Given the description of an element on the screen output the (x, y) to click on. 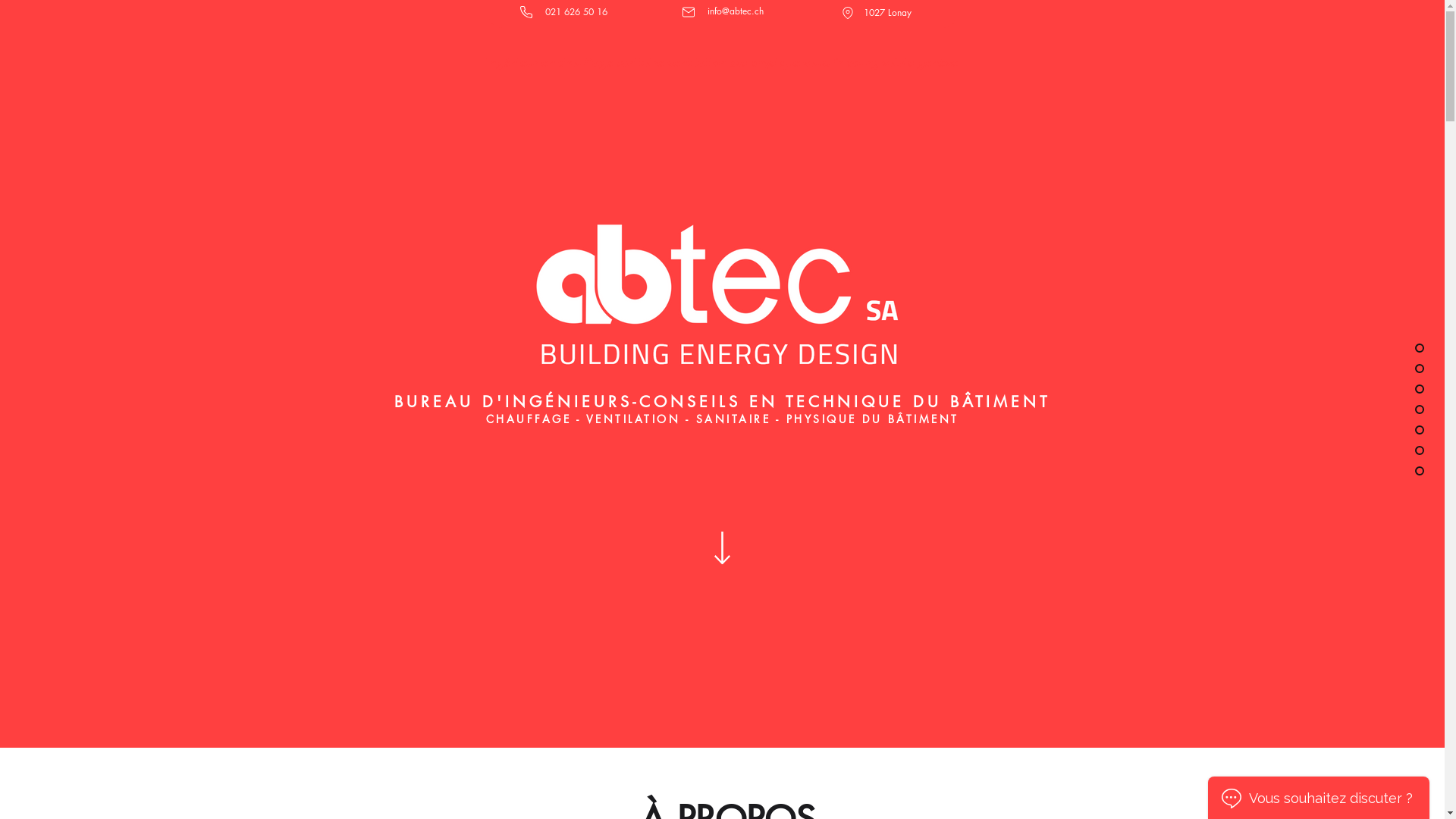
logo abtec base_vectorized23.png Element type: hover (722, 290)
info@abtec.ch Element type: text (734, 10)
